Given the description of an element on the screen output the (x, y) to click on. 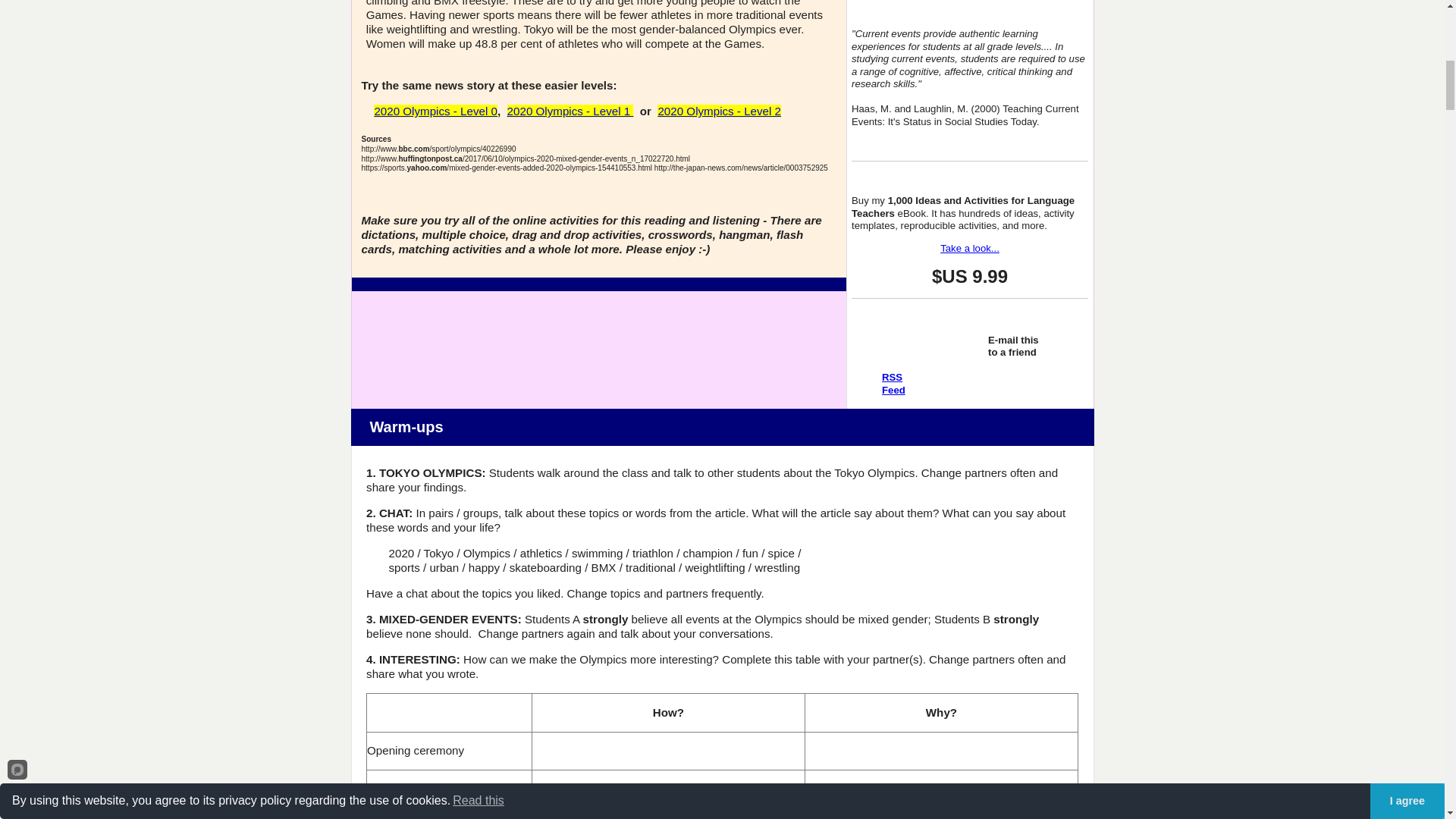
2020 Olympics - Level 1  (1013, 352)
2020 Olympics - Level 2 (569, 110)
... to a friend, student, colleague... (719, 110)
Subscribe to my feed (1013, 352)
Take a look... (893, 383)
2020 Olympics - Level 0 (893, 383)
